Given the description of an element on the screen output the (x, y) to click on. 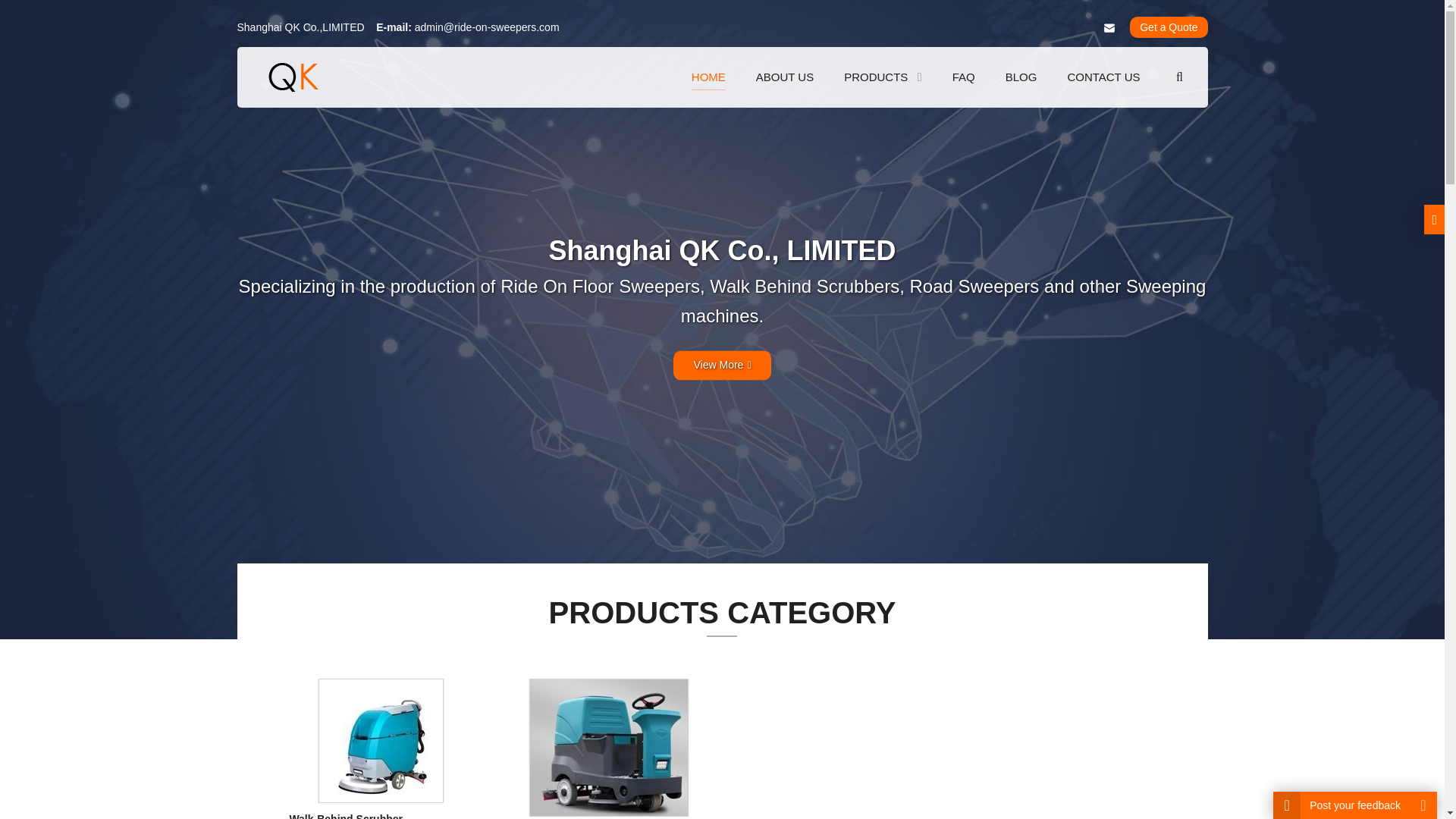
Home (709, 76)
View More (721, 355)
Walk-Behind Scrubber (345, 816)
Blog (1021, 76)
Get a Quote (1168, 26)
ABOUT US (784, 76)
HOME (709, 76)
Walk-Behind Scrubber (381, 739)
Walk-Behind Scrubber (345, 816)
Shanghai QK Co.,LIMITED (294, 77)
